Given the description of an element on the screen output the (x, y) to click on. 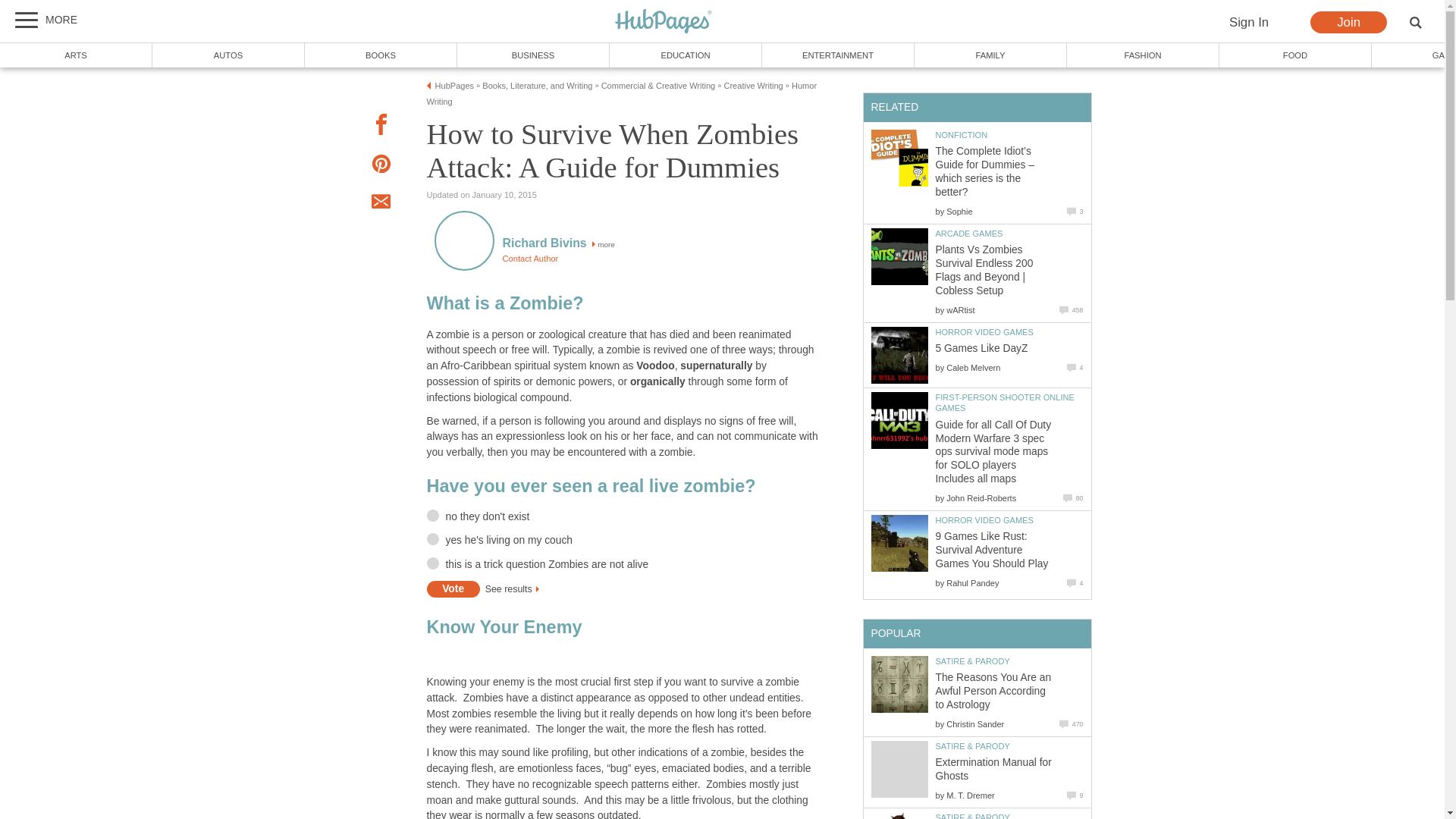
9 Games Like Rust: Survival Adventure Games You Should Play (898, 543)
See results (508, 588)
AUTOS (228, 55)
Join (1348, 22)
Contact Author (529, 257)
Email (380, 203)
Sign In (1248, 22)
HubPages (663, 21)
HubPages (454, 85)
FOOD (1295, 55)
BUSINESS (533, 55)
HubPages (663, 22)
EDUCATION (685, 55)
FAMILY (990, 55)
